Given the description of an element on the screen output the (x, y) to click on. 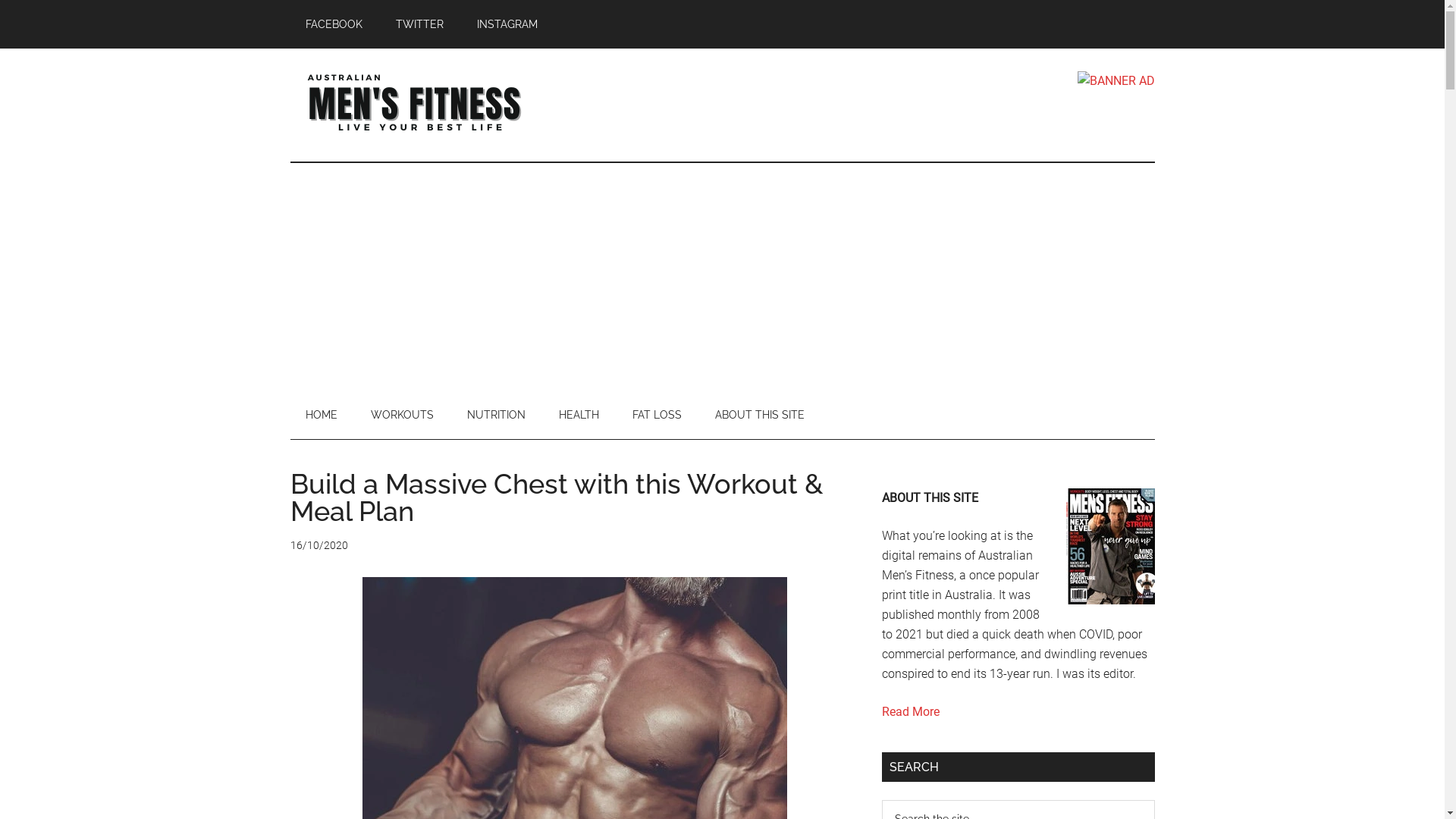
Search Element type: text (1154, 799)
FACEBOOK Element type: text (332, 24)
Advertisement Element type: hover (721, 276)
WORKOUTS Element type: text (401, 414)
ABOUT THIS SITE Element type: text (759, 414)
TWITTER Element type: text (419, 24)
FAT LOSS Element type: text (656, 414)
HOME Element type: text (320, 414)
Read More Element type: text (909, 711)
NUTRITION Element type: text (495, 414)
Skip to main content Element type: text (0, 0)
HEALTH Element type: text (577, 414)
INSTAGRAM Element type: text (506, 24)
